Given the description of an element on the screen output the (x, y) to click on. 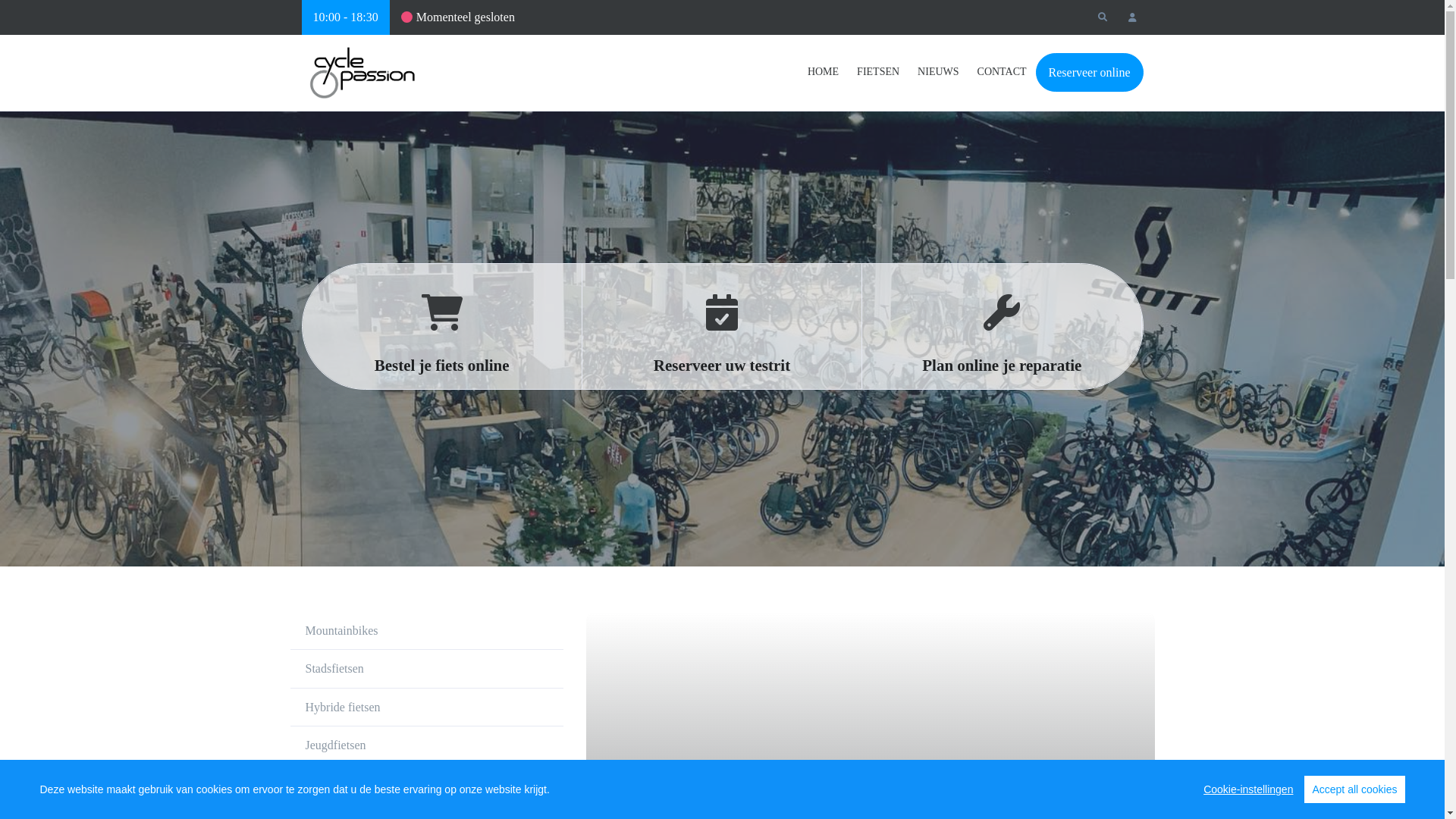
Bestel je fiets online Element type: text (441, 326)
Crosshybrides Element type: text (425, 784)
CONTACT Element type: text (1001, 71)
FIETSEN Element type: text (877, 71)
Stadsfietsen Element type: text (425, 668)
Hybride fietsen Element type: text (425, 707)
Reserveer online Element type: text (1089, 72)
Mountainbikes Element type: text (425, 630)
Reserveer uw testrit Element type: text (722, 326)
Jeugdfietsen Element type: text (425, 745)
Cookie-instellingen Element type: text (1247, 789)
NIEUWS Element type: text (937, 71)
Accept all cookies Element type: text (1354, 789)
HOME Element type: text (827, 71)
Plan online je reparatie Element type: text (1002, 326)
